Given the description of an element on the screen output the (x, y) to click on. 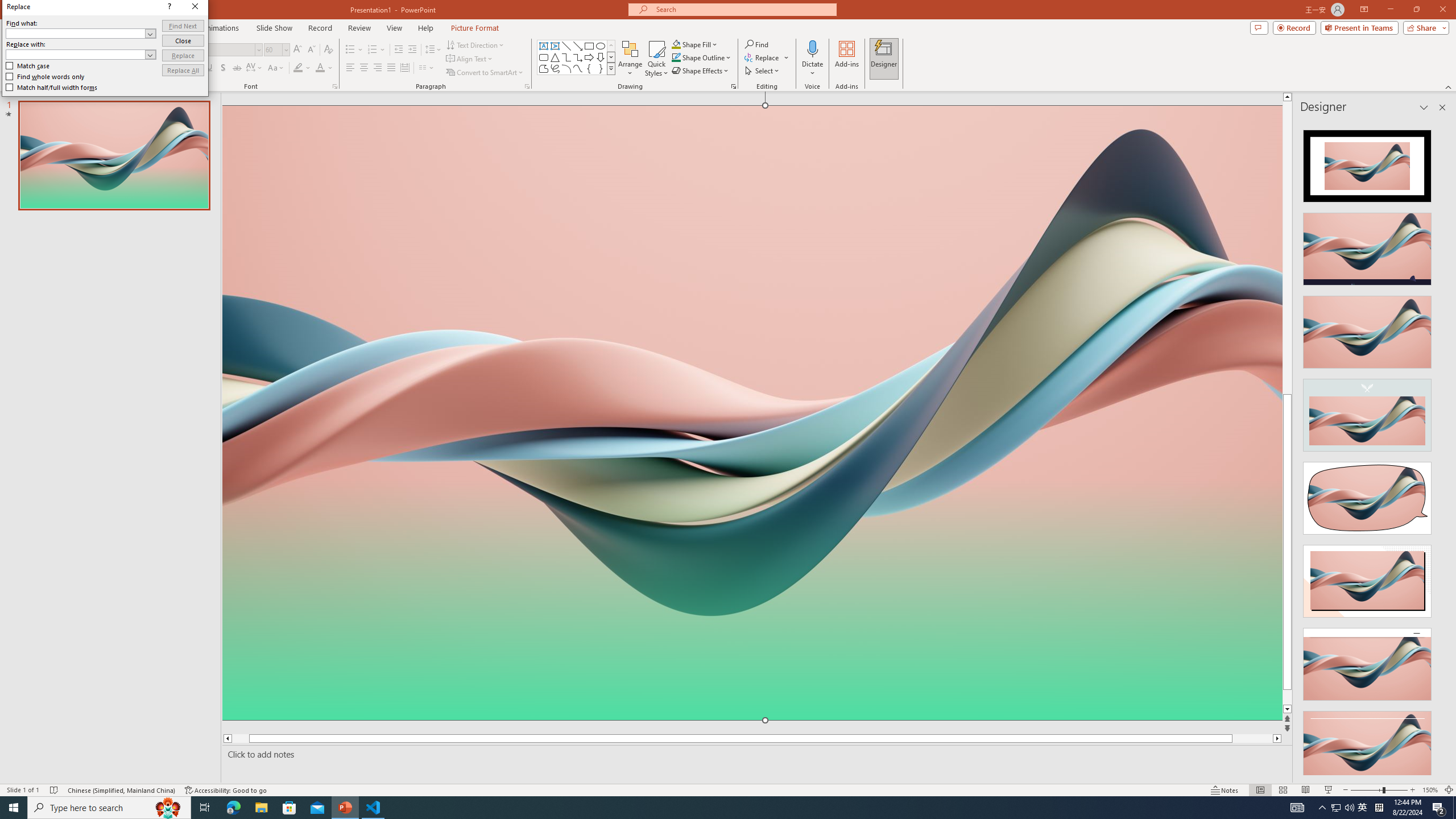
Underline (209, 67)
Arc (566, 68)
Connector: Elbow Arrow (577, 57)
Clear Formatting (327, 49)
Decrease Font Size (310, 49)
Format Painter (58, 72)
Curve (577, 68)
Rectangle: Rounded Corners (543, 57)
